Given the description of an element on the screen output the (x, y) to click on. 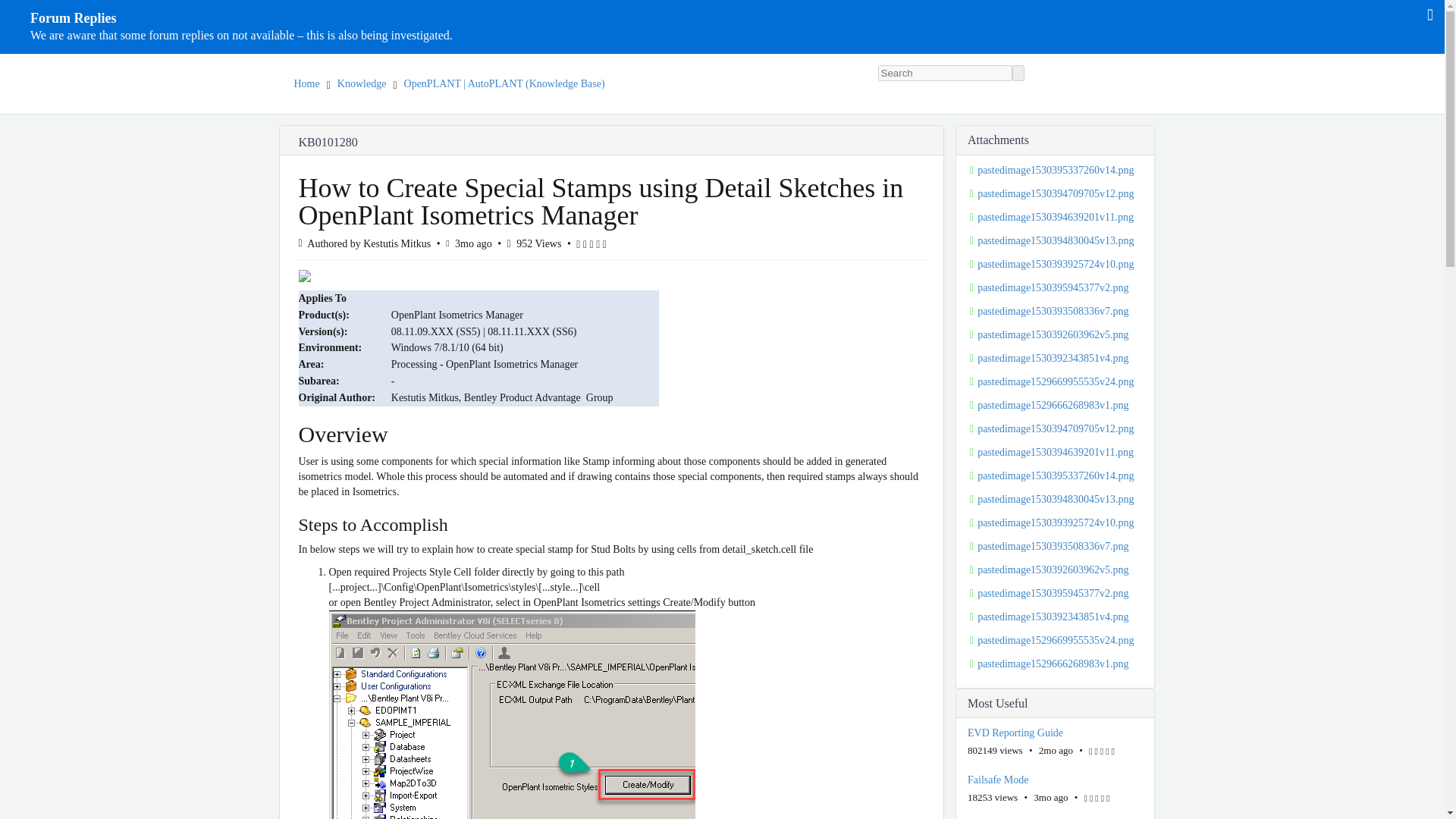
Attached by Dylan Coons 2024-05-03 19:07:01 (1055, 240)
Knowledge (362, 83)
pastedimage1530394639201v11.png (1055, 452)
pastedimage1529666268983v1.png (1055, 405)
Attached by Dylan Coons 2024-05-03 19:07:03 (1055, 217)
pastedimage1530392343851v4.png (1055, 358)
pastedimage1530393925724v10.png (1055, 264)
pastedimage1530394830045v13.png (1055, 499)
pastedimage1530395337260v14.png (1055, 170)
pastedimage1530394639201v11.png (1055, 217)
